Given the description of an element on the screen output the (x, y) to click on. 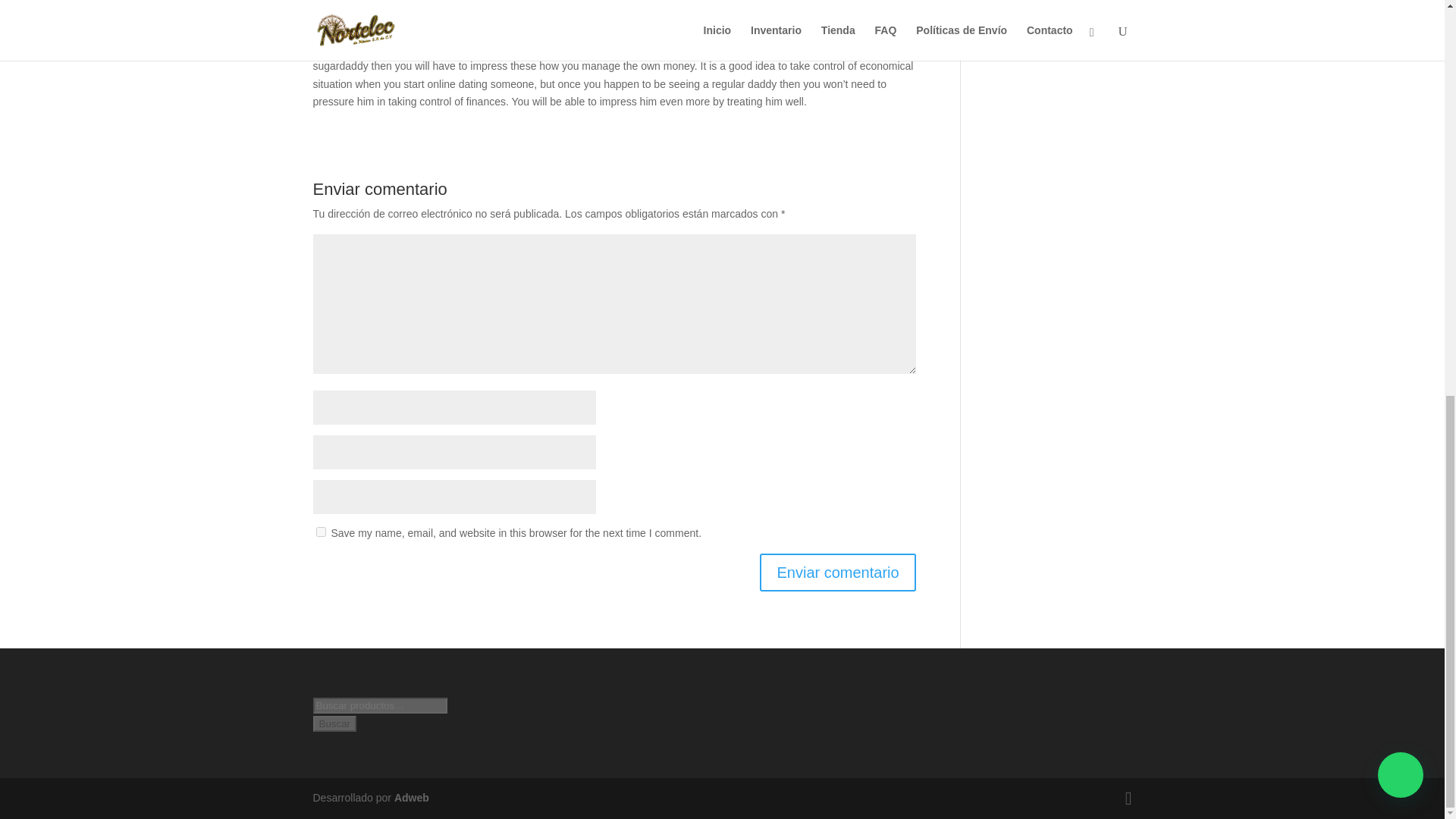
Enviar comentario (837, 572)
Adweb (411, 797)
Buscar (334, 723)
Buscar por: (379, 705)
Enviar comentario (837, 572)
yes (319, 532)
Buscar (334, 723)
